Given the description of an element on the screen output the (x, y) to click on. 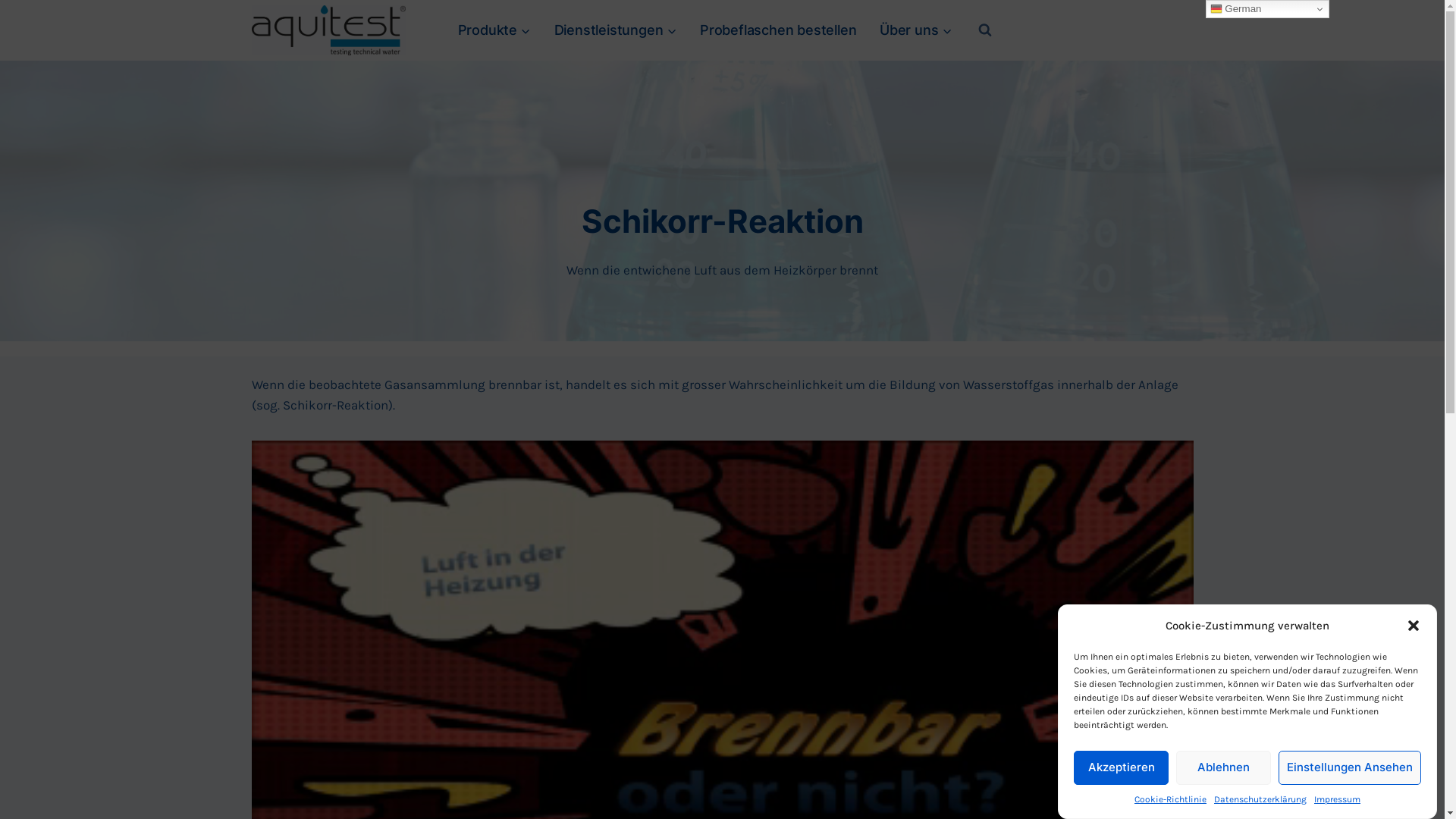
Impressum Element type: text (1337, 799)
Akzeptieren Element type: text (1120, 767)
Probeflaschen bestellen Element type: text (778, 29)
Dienstleistungen Element type: text (614, 29)
Ablehnen Element type: text (1223, 767)
Einstellungen Ansehen Element type: text (1349, 767)
Cookie-Richtlinie Element type: text (1170, 799)
German Element type: text (1267, 9)
Produkte Element type: text (493, 29)
